Given the description of an element on the screen output the (x, y) to click on. 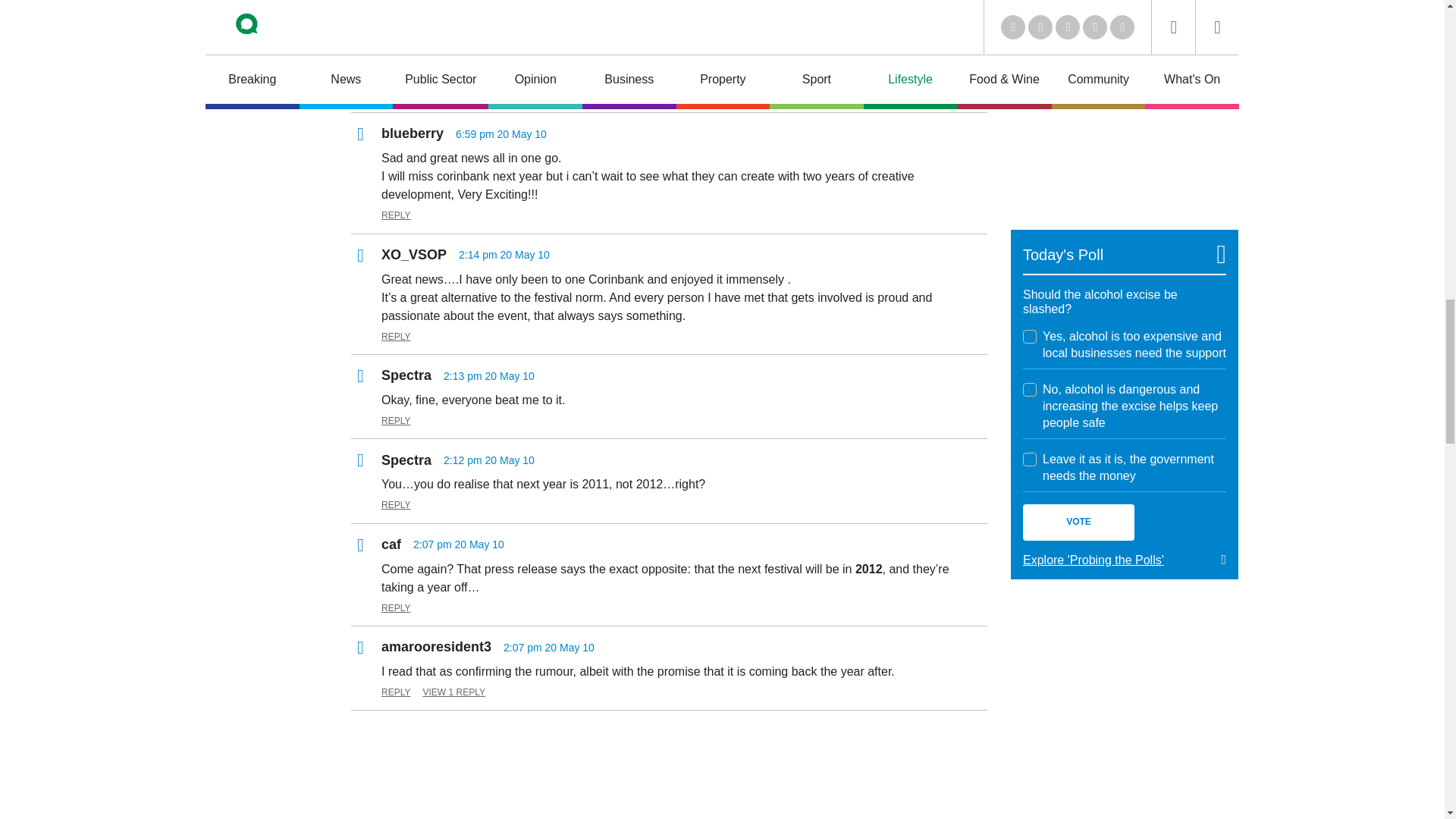
   Vote    (1078, 522)
Zango Sales (1124, 110)
2046 (1029, 336)
2048 (1029, 459)
2047 (1029, 389)
